Given the description of an element on the screen output the (x, y) to click on. 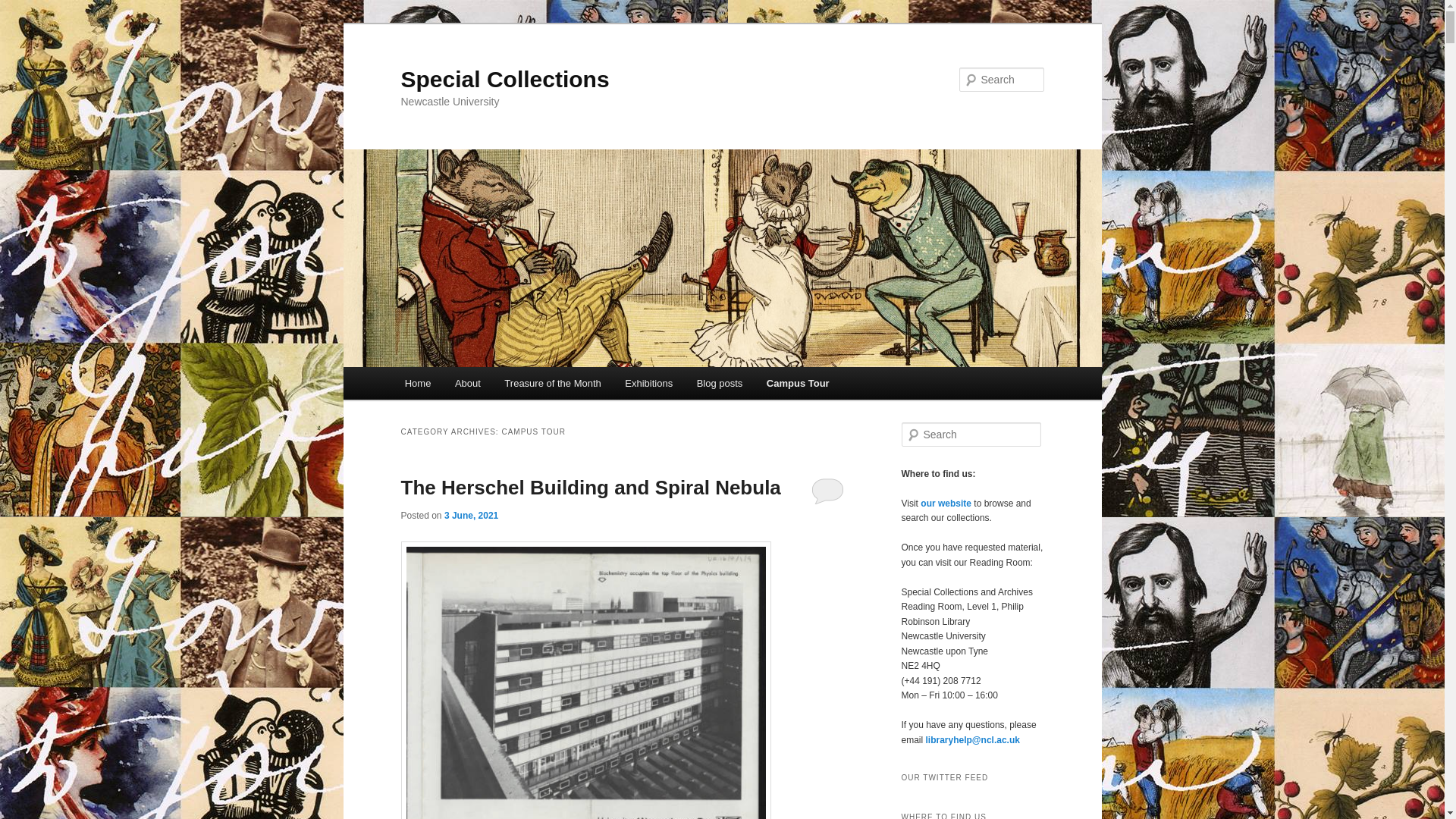
Exhibitions (648, 382)
Treasure of the Month (552, 382)
Home (417, 382)
2:13 pm (470, 515)
The Herschel Building and Spiral Nebula (590, 486)
Search (24, 8)
About (467, 382)
Special Collections (504, 78)
Campus Tour (797, 382)
